Given the description of an element on the screen output the (x, y) to click on. 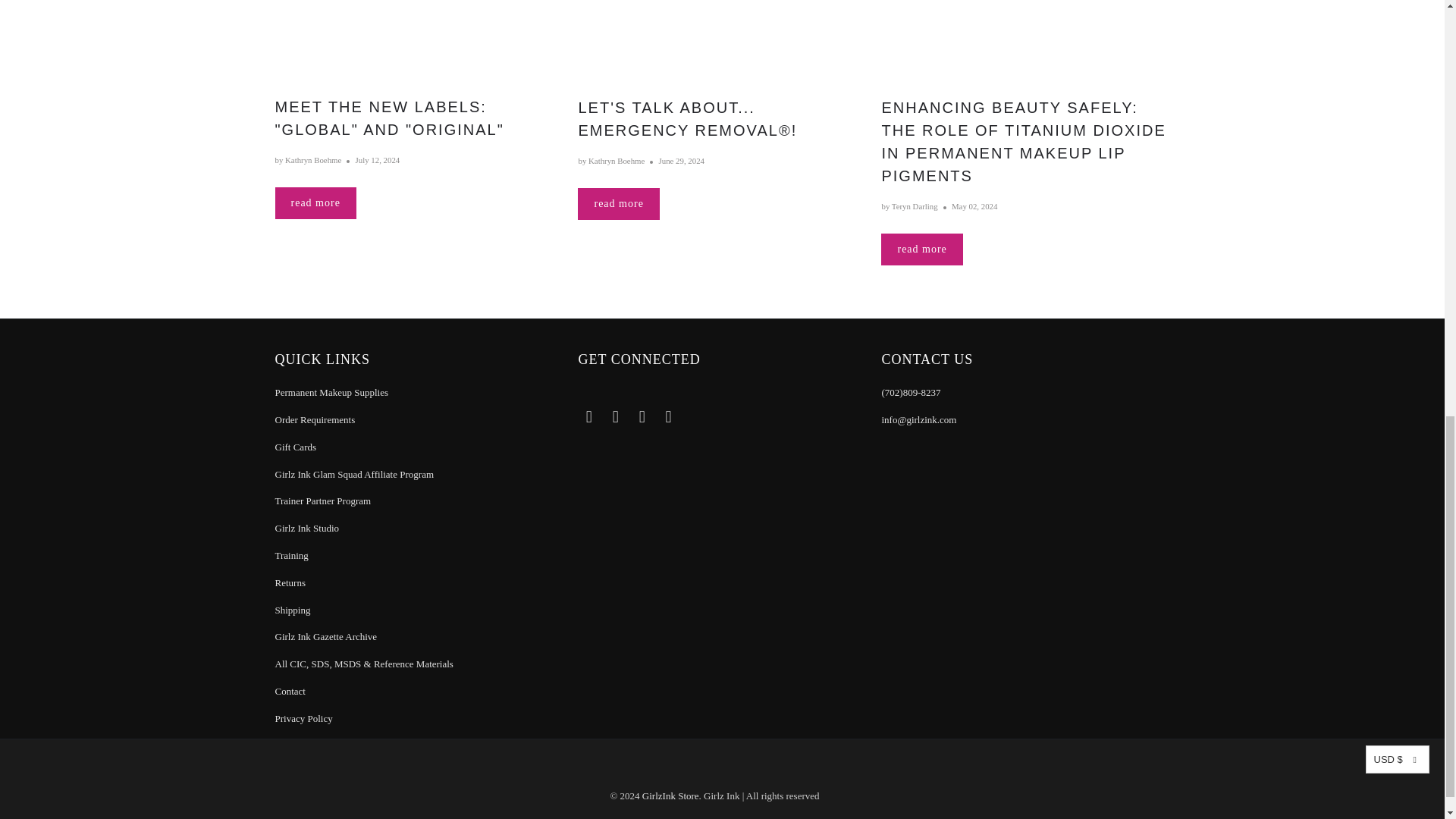
Meet the New Labels: "GLOBAL" and "ORIGINAL" (418, 45)
